Given the description of an element on the screen output the (x, y) to click on. 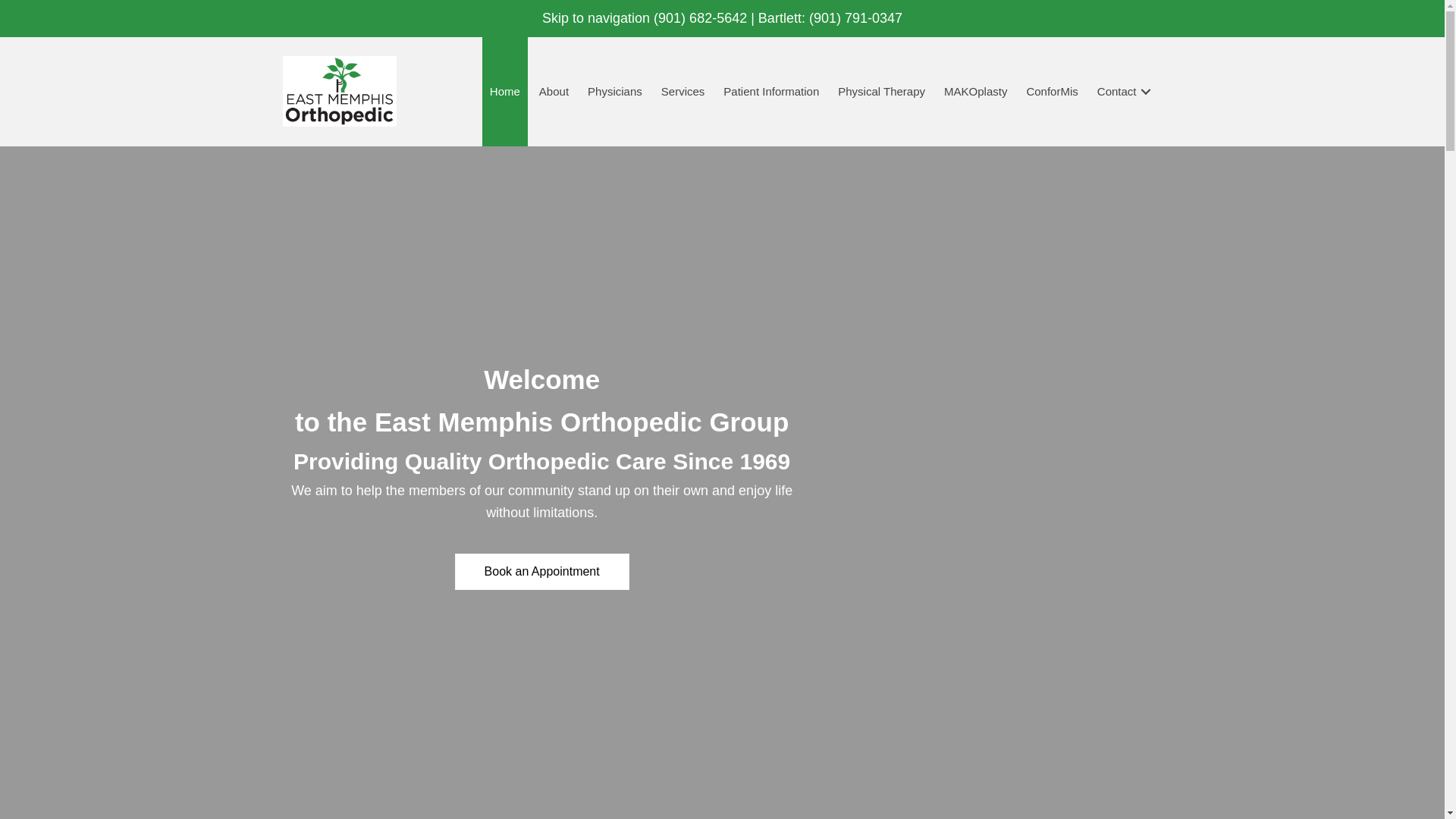
Physical Therapy (881, 91)
Patient Information (771, 91)
Book an Appointment (541, 571)
